Given the description of an element on the screen output the (x, y) to click on. 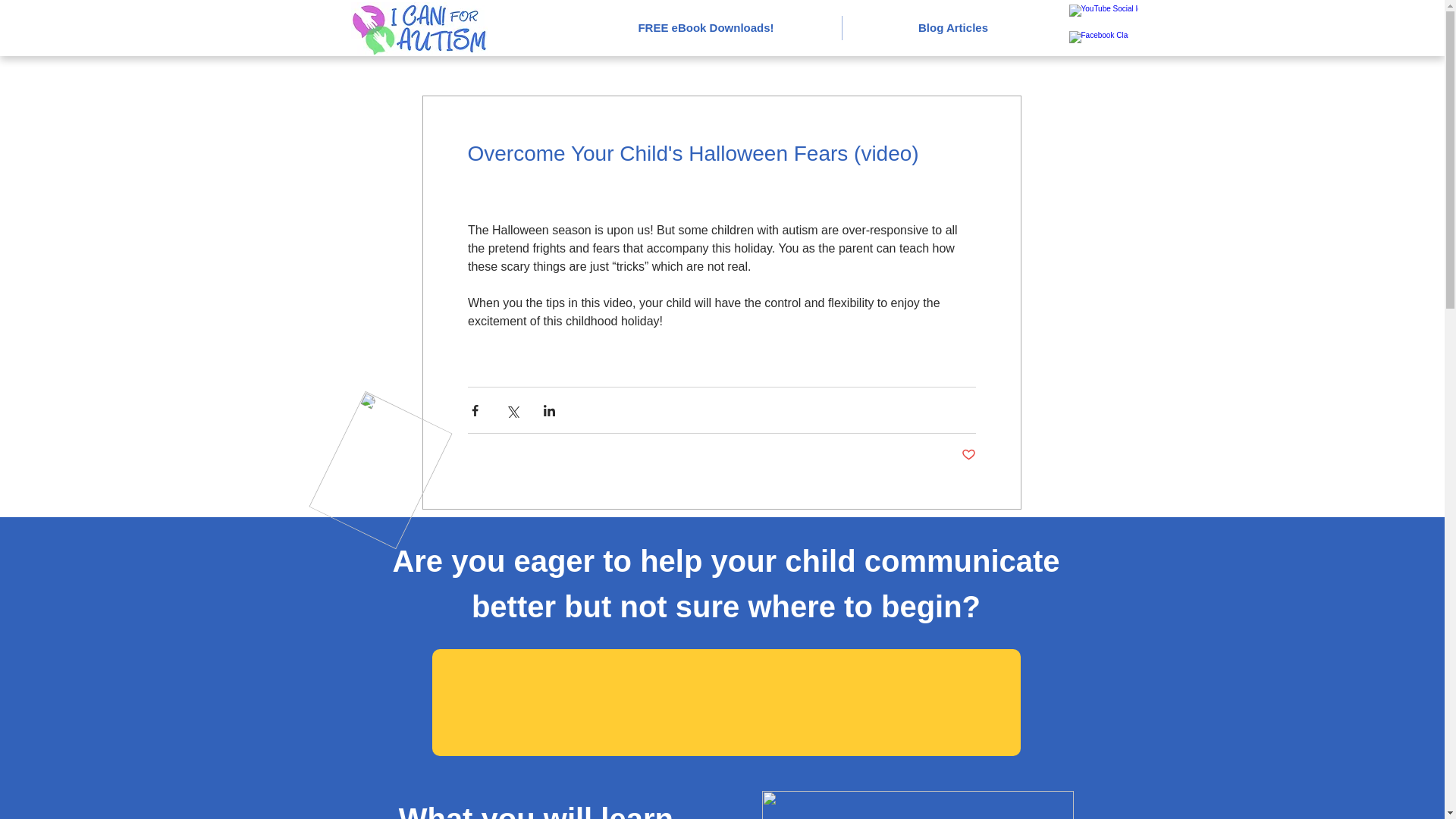
FREE eBook Downloads! (705, 27)
Blog Articles (952, 27)
Communication-Assessment-book-cover-v2-trans.png (917, 805)
Post not marked as liked (967, 455)
